Given the description of an element on the screen output the (x, y) to click on. 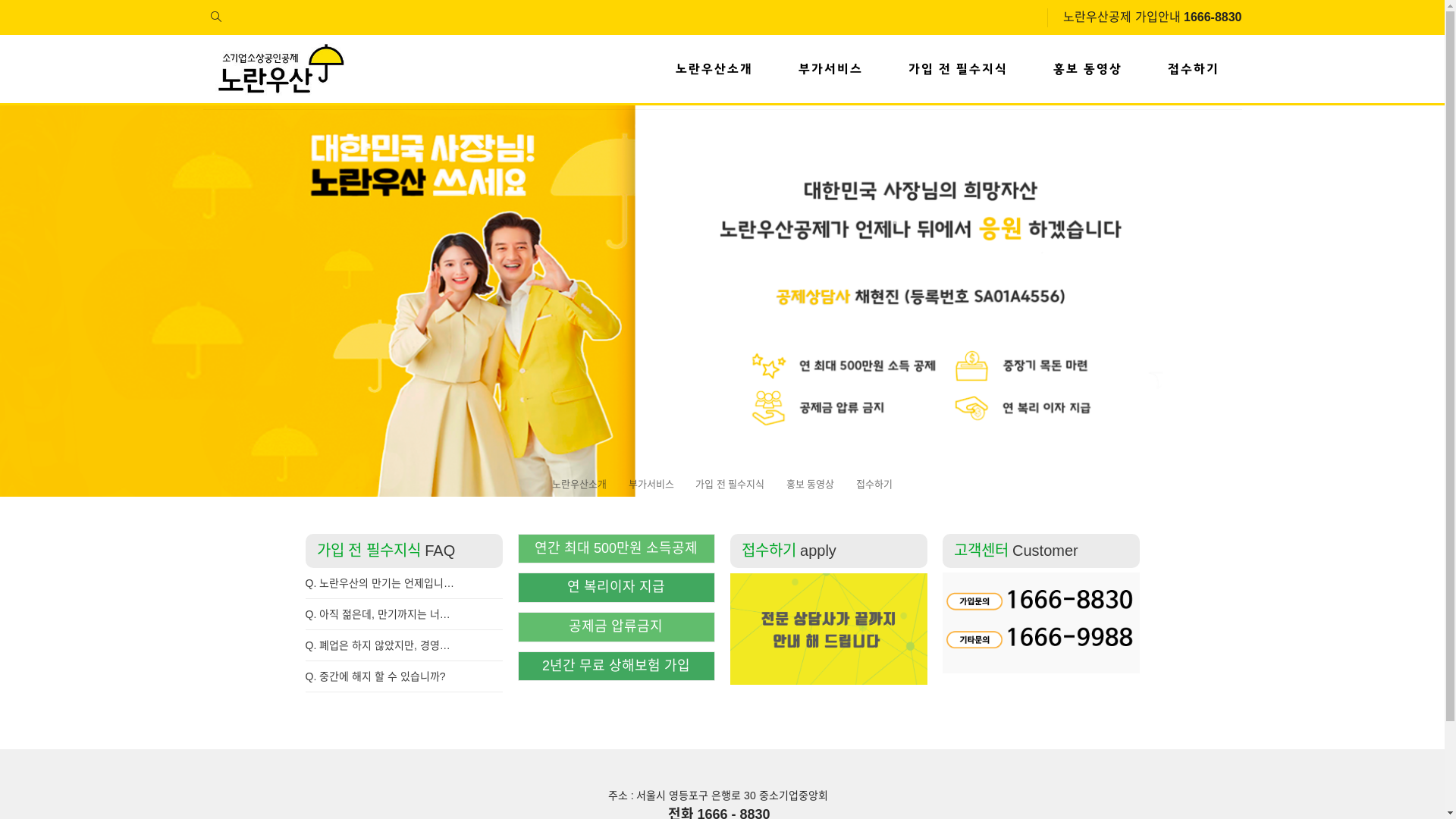
site search Element type: text (216, 16)
